Given the description of an element on the screen output the (x, y) to click on. 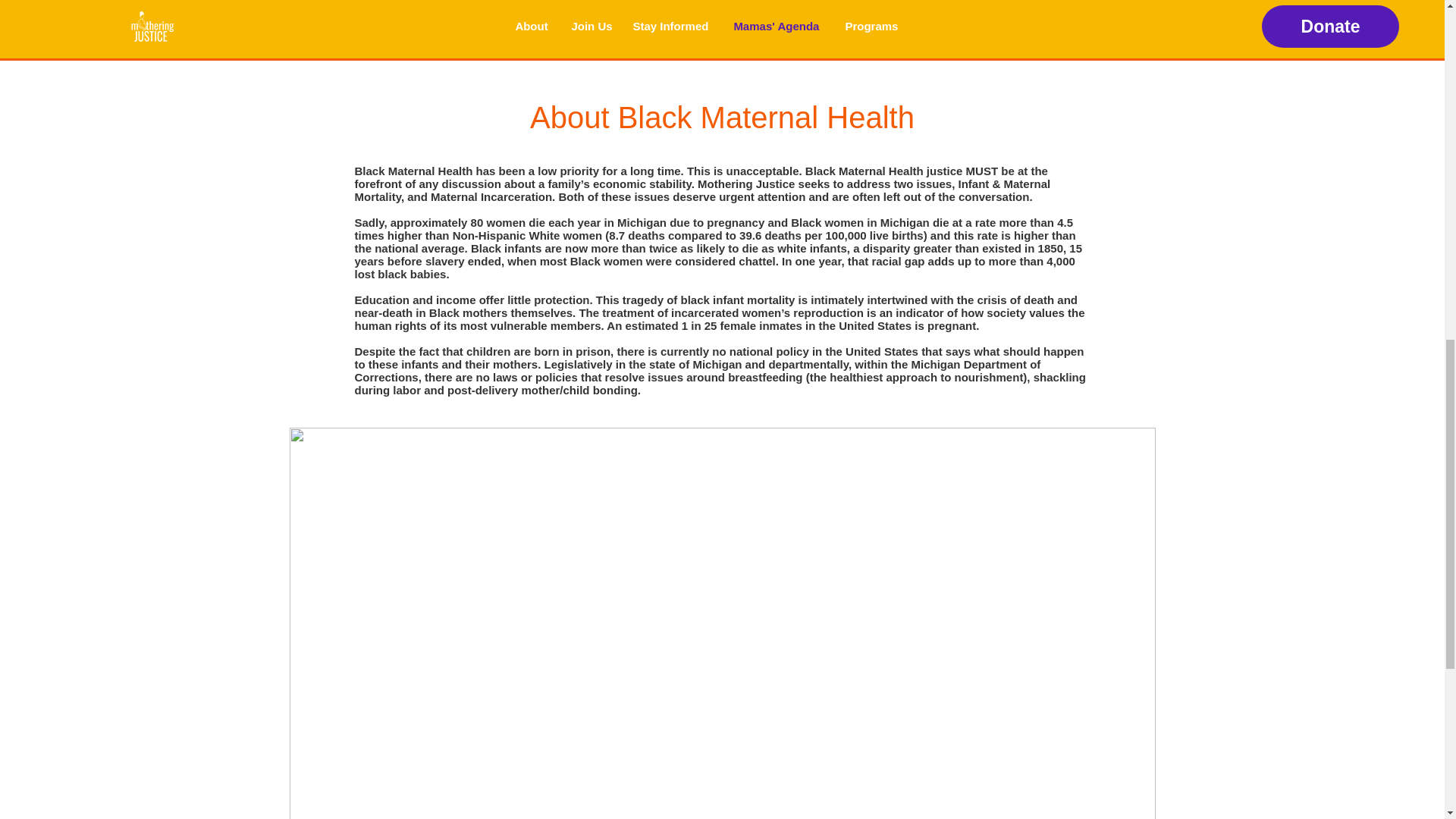
Learn More (806, 4)
